Given the description of an element on the screen output the (x, y) to click on. 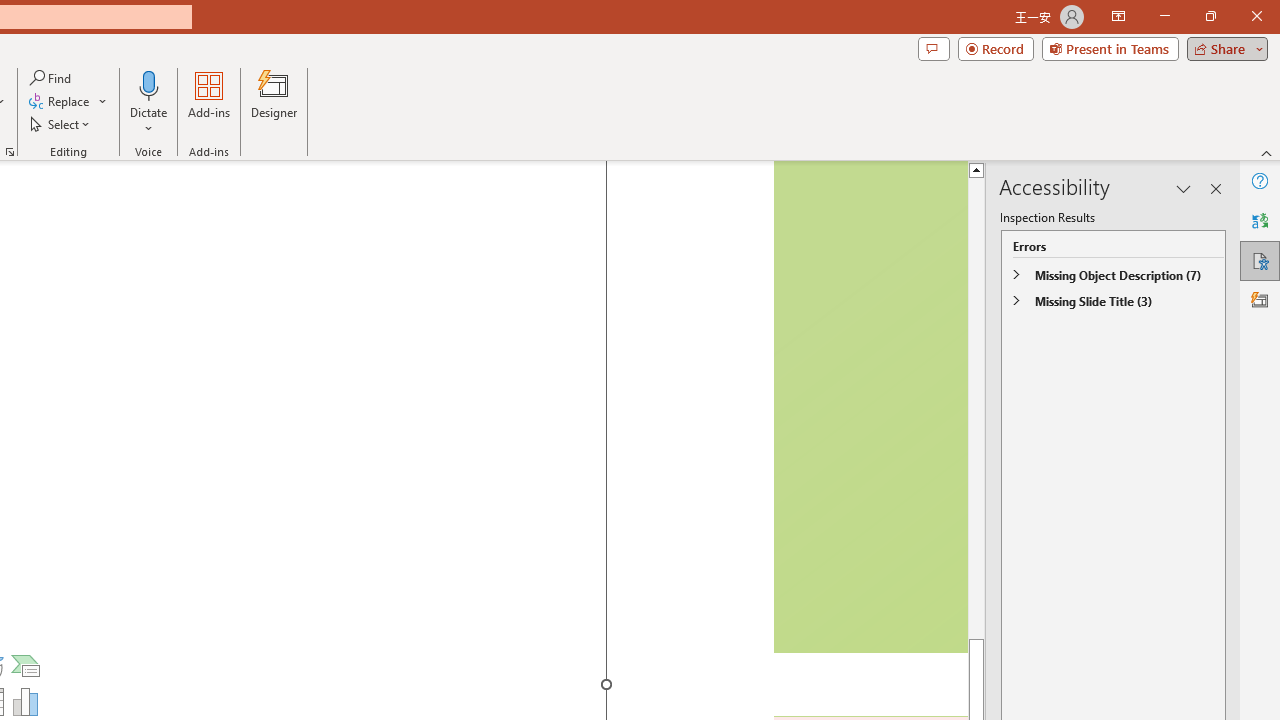
Insert a SmartArt Graphic (26, 665)
Camera 5, No camera detected. (869, 407)
